Given the description of an element on the screen output the (x, y) to click on. 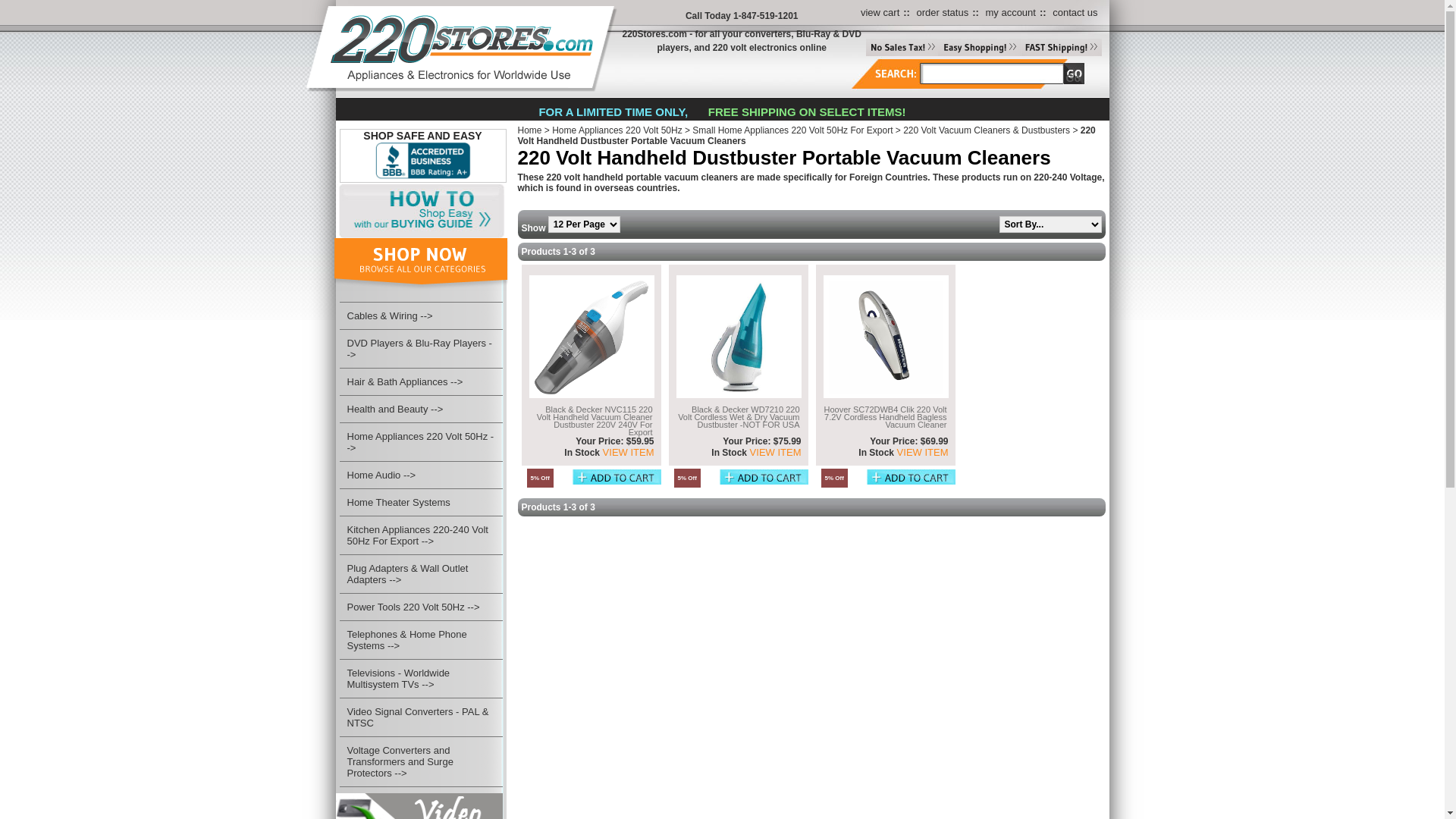
Home Theater Systems Element type: text (398, 502)
Easy Shopping Element type: hover (978, 47)
Home Element type: text (529, 130)
order status Element type: text (942, 12)
VIEW ITEM Element type: text (773, 452)
my account Element type: text (1010, 12)
VIEW ITEM Element type: text (921, 452)
Televisions - Worldwide Multisystem TVs --> Element type: text (398, 678)
DVD Players & Blu-Ray Players --> Element type: text (419, 348)
Small Home Appliances 220 Volt 50Hz For Export Element type: text (792, 130)
Power Tools 220 Volt 50Hz --> Element type: text (413, 606)
Fast Shipping Element type: hover (1060, 47)
VIEW ITEM Element type: text (626, 452)
Voltage Converters and Transformers and Surge Protectors --> Element type: text (400, 761)
Telephones & Home Phone Systems --> Element type: text (407, 639)
Home Appliances 220 Volt 50Hz --> Element type: text (420, 441)
Video Signal Converters - PAL & NTSC Element type: text (418, 717)
Cables & Wiring --> Element type: text (390, 315)
Kitchen Appliances 220-240 Volt 50Hz For Export --> Element type: text (417, 535)
Health and Beauty --> Element type: text (395, 408)
Home Appliances 220 Volt 50Hz Element type: text (616, 130)
contact us Element type: text (1074, 12)
Plug Adapters & Wall Outlet Adapters --> Element type: text (407, 573)
No Sales Tax Element type: hover (902, 47)
Go Element type: text (1071, 77)
Home Audio --> Element type: text (381, 474)
Hair & Bath Appliances --> Element type: text (405, 381)
view cart Element type: text (879, 12)
220 Volt Vacuum Cleaners & Dustbusters Element type: text (986, 130)
